Given the description of an element on the screen output the (x, y) to click on. 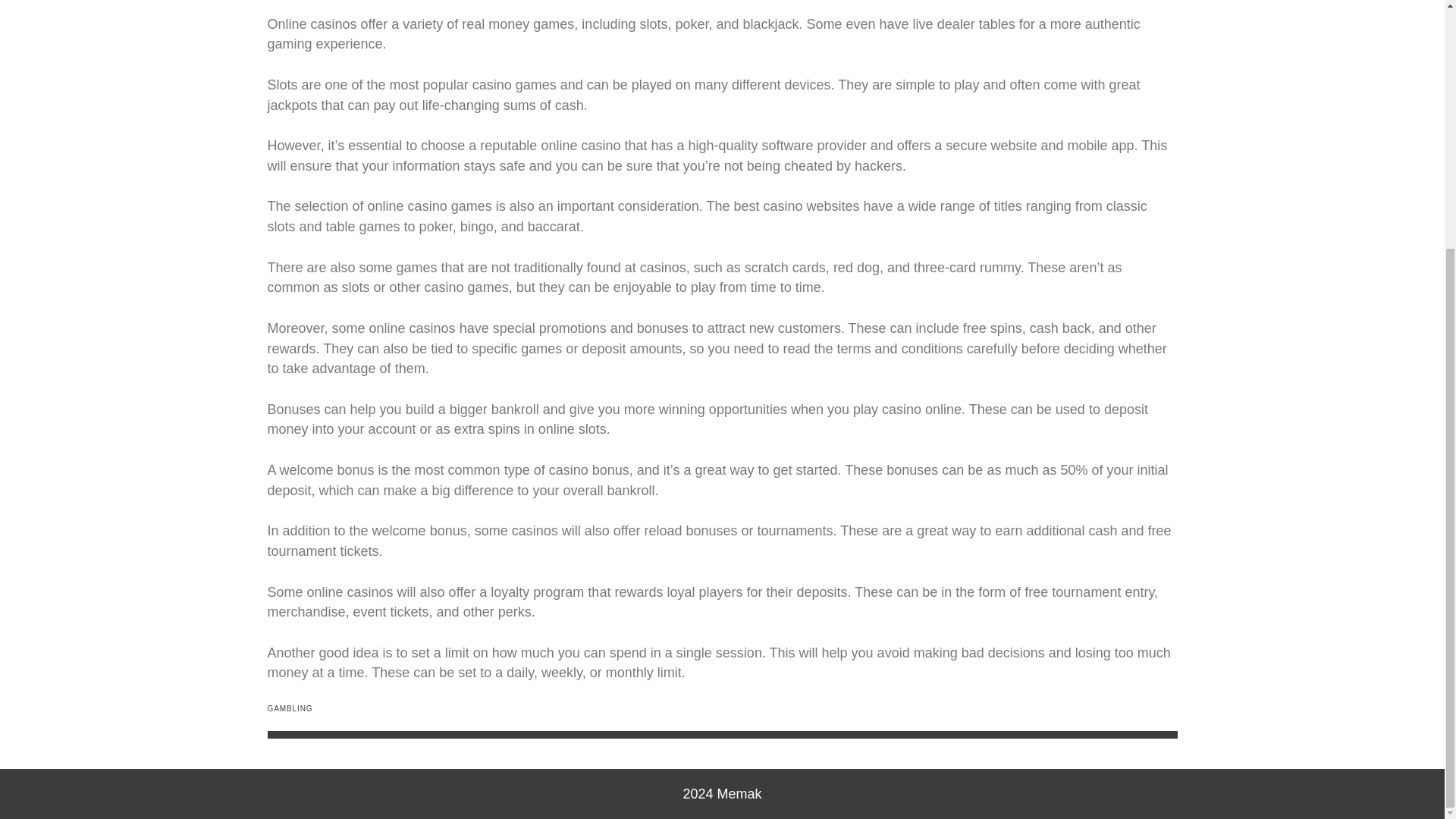
GAMBLING (289, 708)
